Given the description of an element on the screen output the (x, y) to click on. 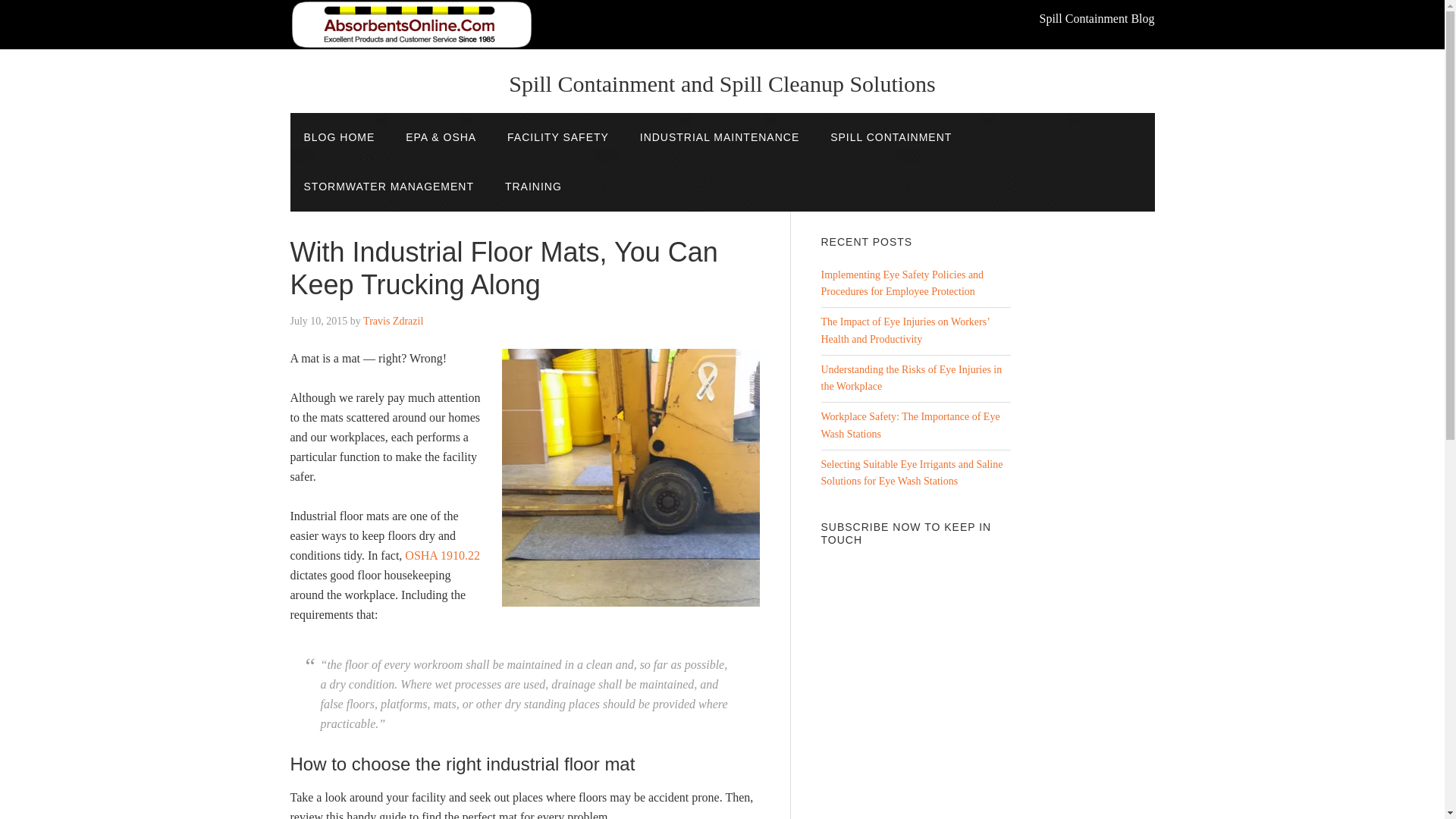
BLOG HOME (338, 137)
Understanding the Risks of Eye Injuries in the Workplace (911, 378)
SPILL CONTAINMENT BLOG (410, 24)
Spill Containment Blog (410, 24)
SPILL CONTAINMENT (890, 137)
INDUSTRIAL MAINTENANCE (719, 137)
Workplace Safety: The Importance of Eye Wash Stations (909, 425)
OSHA 1910.22 (442, 554)
STORMWATER MANAGEMENT (388, 186)
With Industrial Floor Mats, You Can Keep Trucking Along (503, 268)
FACILITY SAFETY (558, 137)
Travis Zdrazil (392, 320)
TRAINING (533, 186)
